Given the description of an element on the screen output the (x, y) to click on. 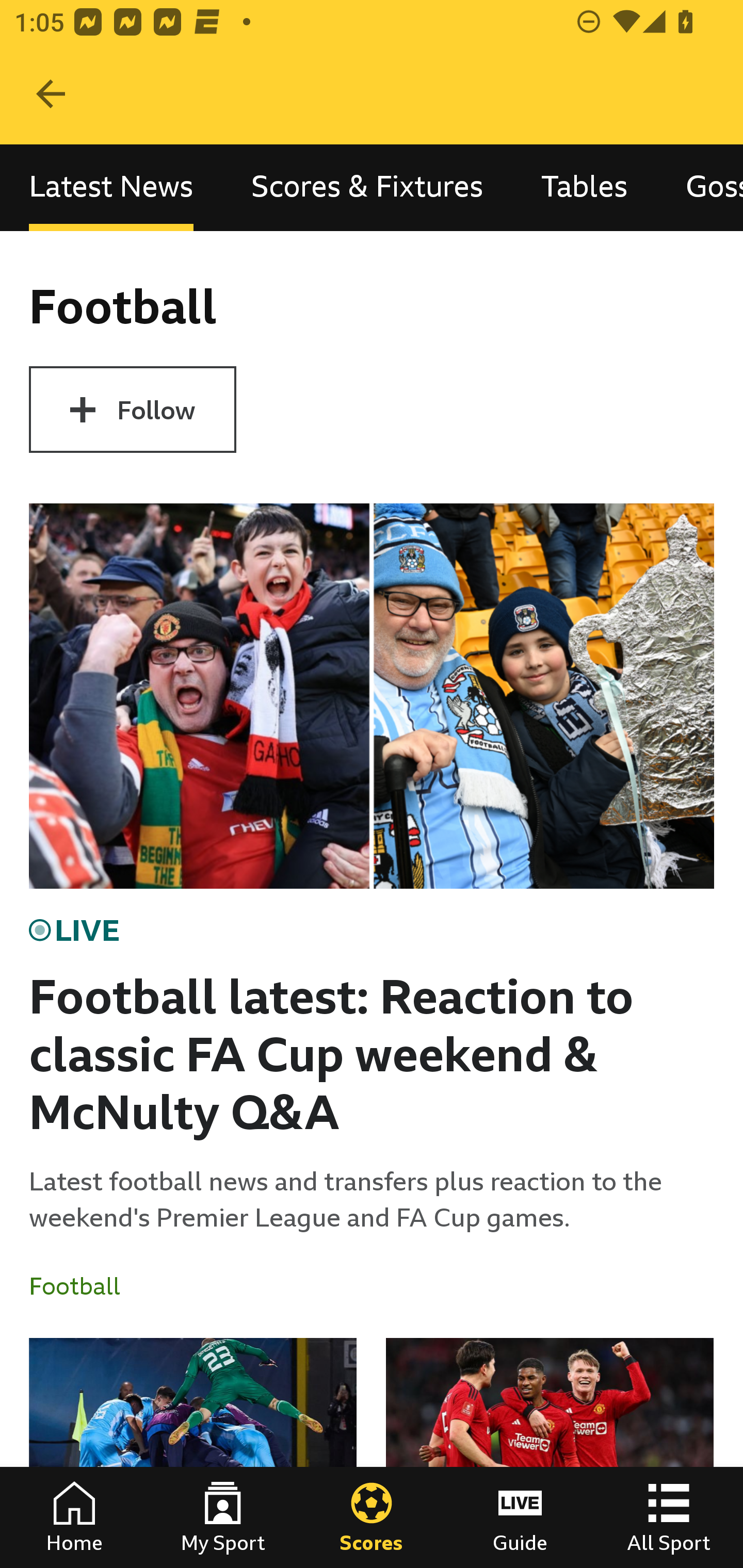
Navigate up (50, 93)
Latest News, selected Latest News (111, 187)
Scores & Fixtures (367, 187)
Tables (584, 187)
Gossip (699, 187)
Follow Football Follow (132, 409)
Home (74, 1517)
My Sport (222, 1517)
Guide (519, 1517)
All Sport (668, 1517)
